Given the description of an element on the screen output the (x, y) to click on. 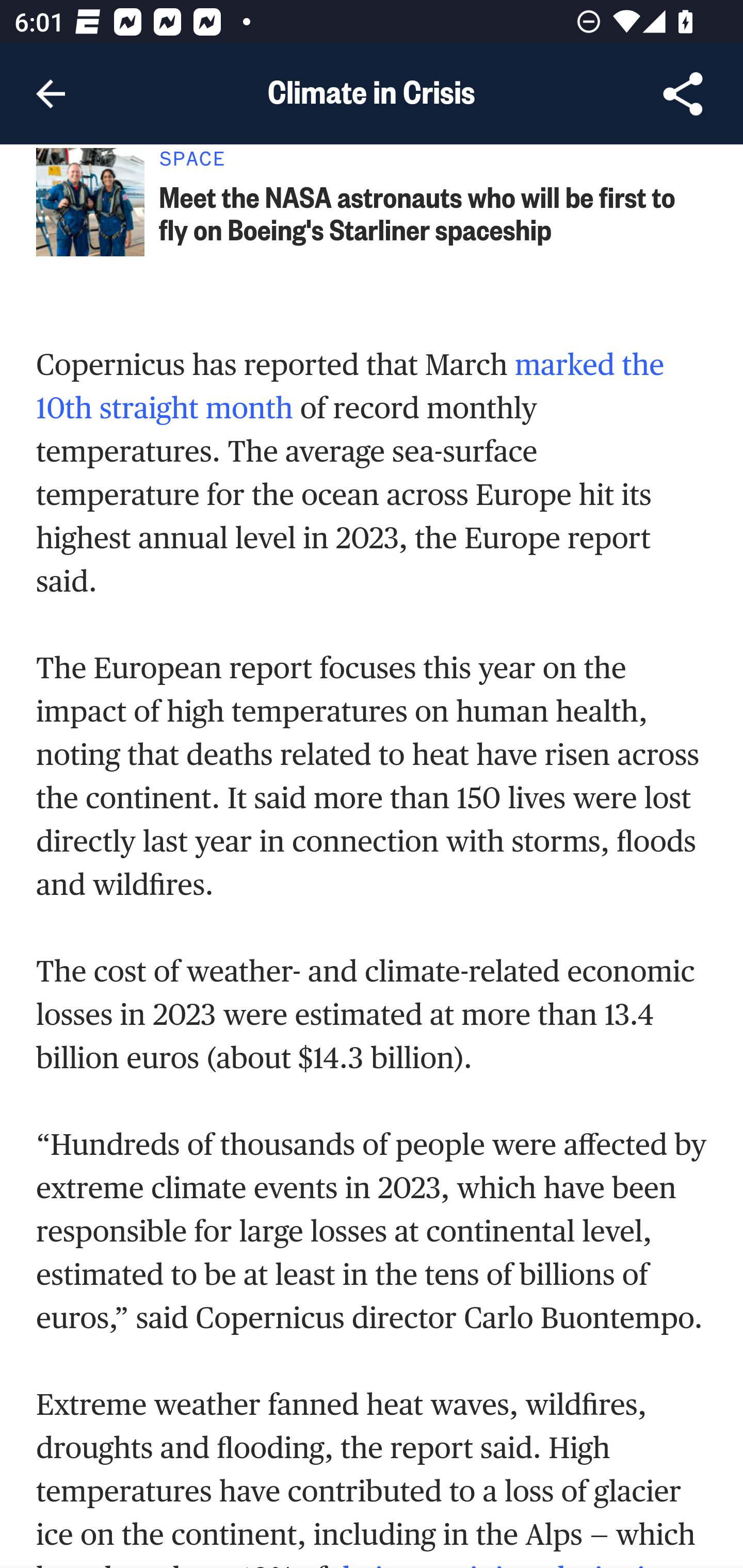
Navigate up (50, 93)
Share Article, button (683, 94)
SPACE (434, 163)
marked the 10th straight month (351, 386)
